Given the description of an element on the screen output the (x, y) to click on. 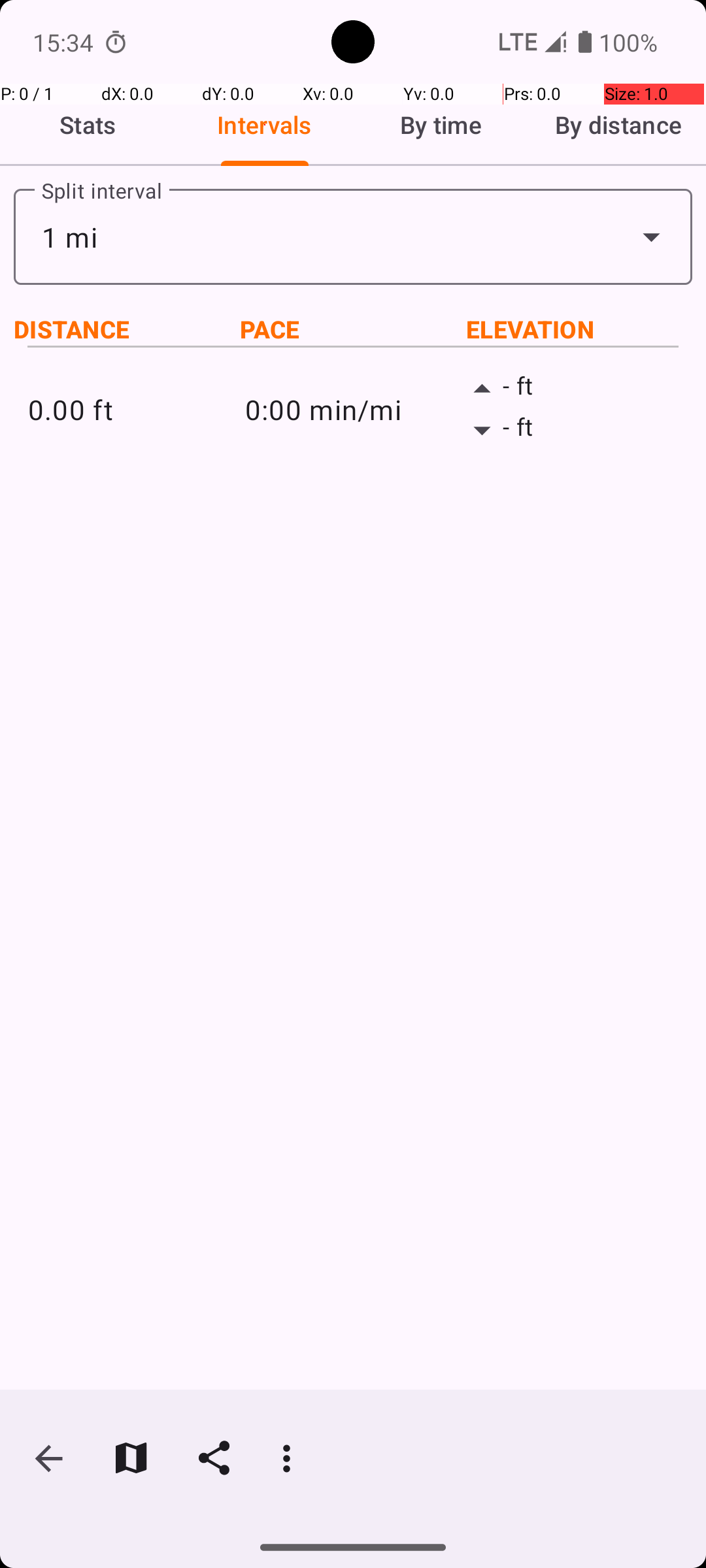
PACE Element type: android.widget.TextView (352, 328)
0:00 min/mi Element type: android.widget.TextView (352, 408)
